Given the description of an element on the screen output the (x, y) to click on. 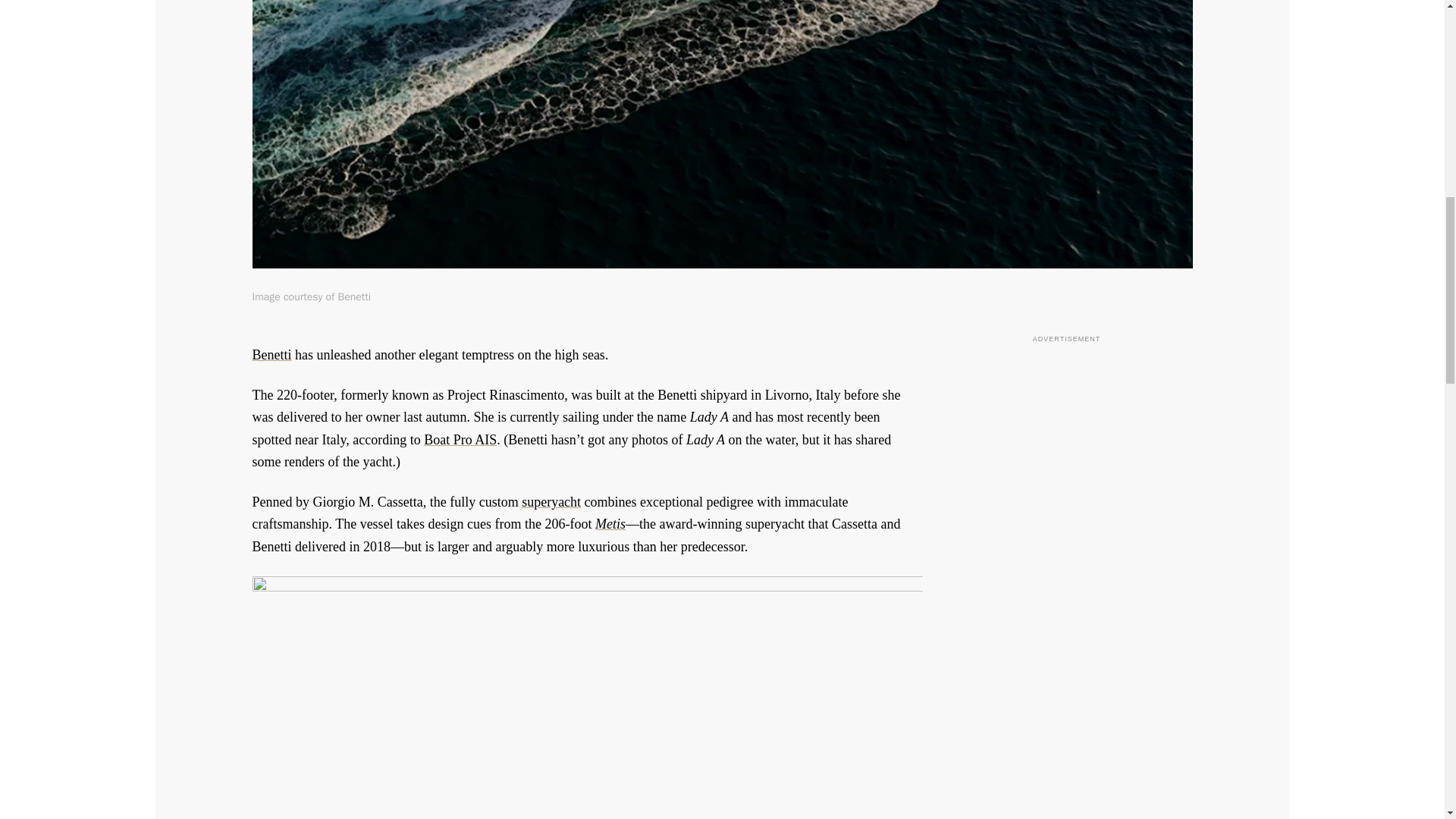
superyacht (550, 501)
Metis (610, 523)
Boat Pro AIS (459, 439)
Benetti (271, 354)
